Given the description of an element on the screen output the (x, y) to click on. 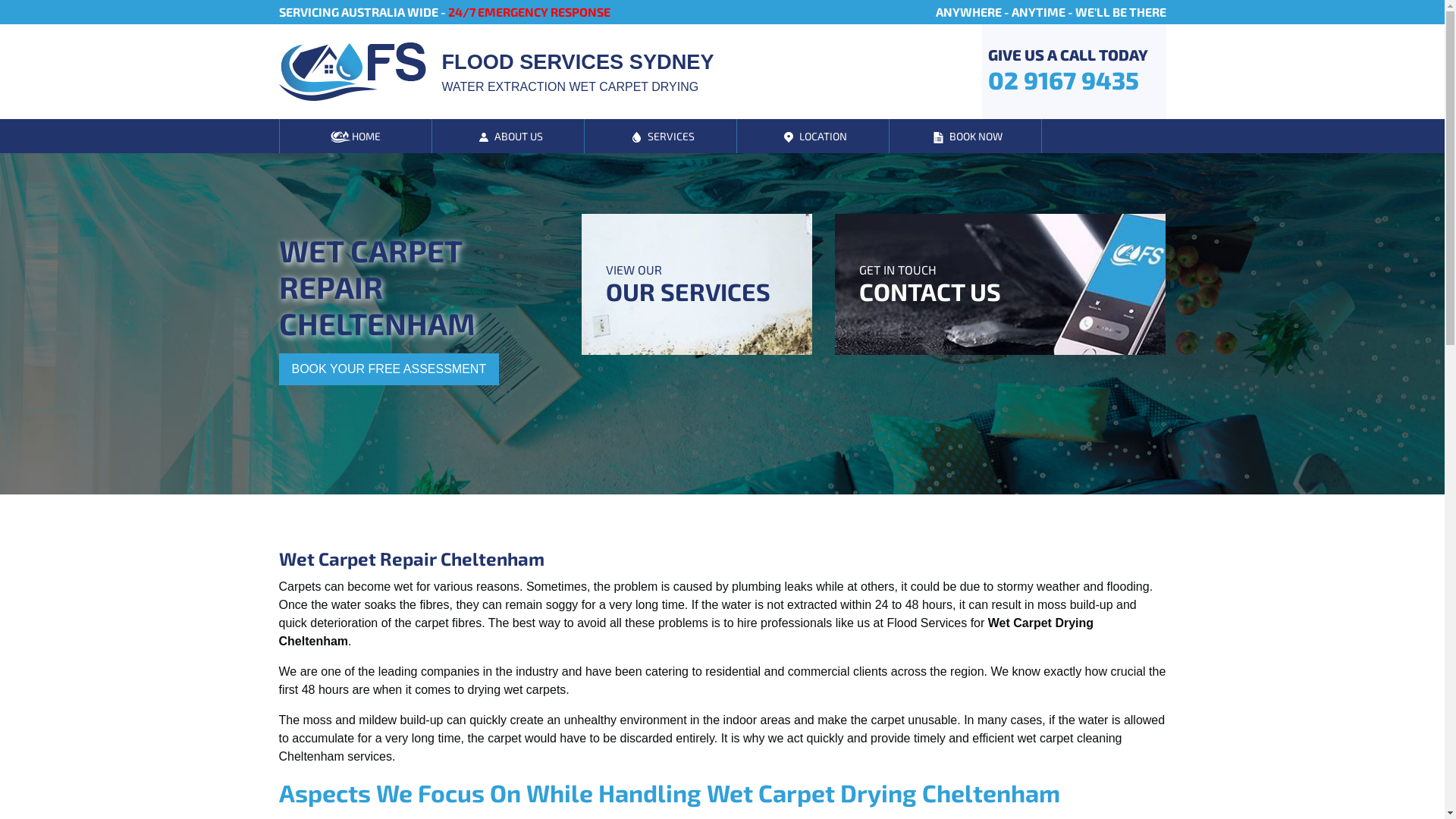
BOOK YOUR FREE ASSESSMENT Element type: text (389, 369)
GET IN TOUCH
CONTACT US Element type: text (1000, 283)
HOME Element type: text (354, 136)
ABOUT US Element type: text (507, 136)
VIEW OUR
OUR SERVICES Element type: text (696, 283)
LOCATION Element type: text (812, 136)
GIVE US A CALL TODAY
02 9167 9435 Element type: text (1067, 71)
BOOK NOW Element type: text (964, 136)
SERVICES Element type: text (659, 136)
